Given the description of an element on the screen output the (x, y) to click on. 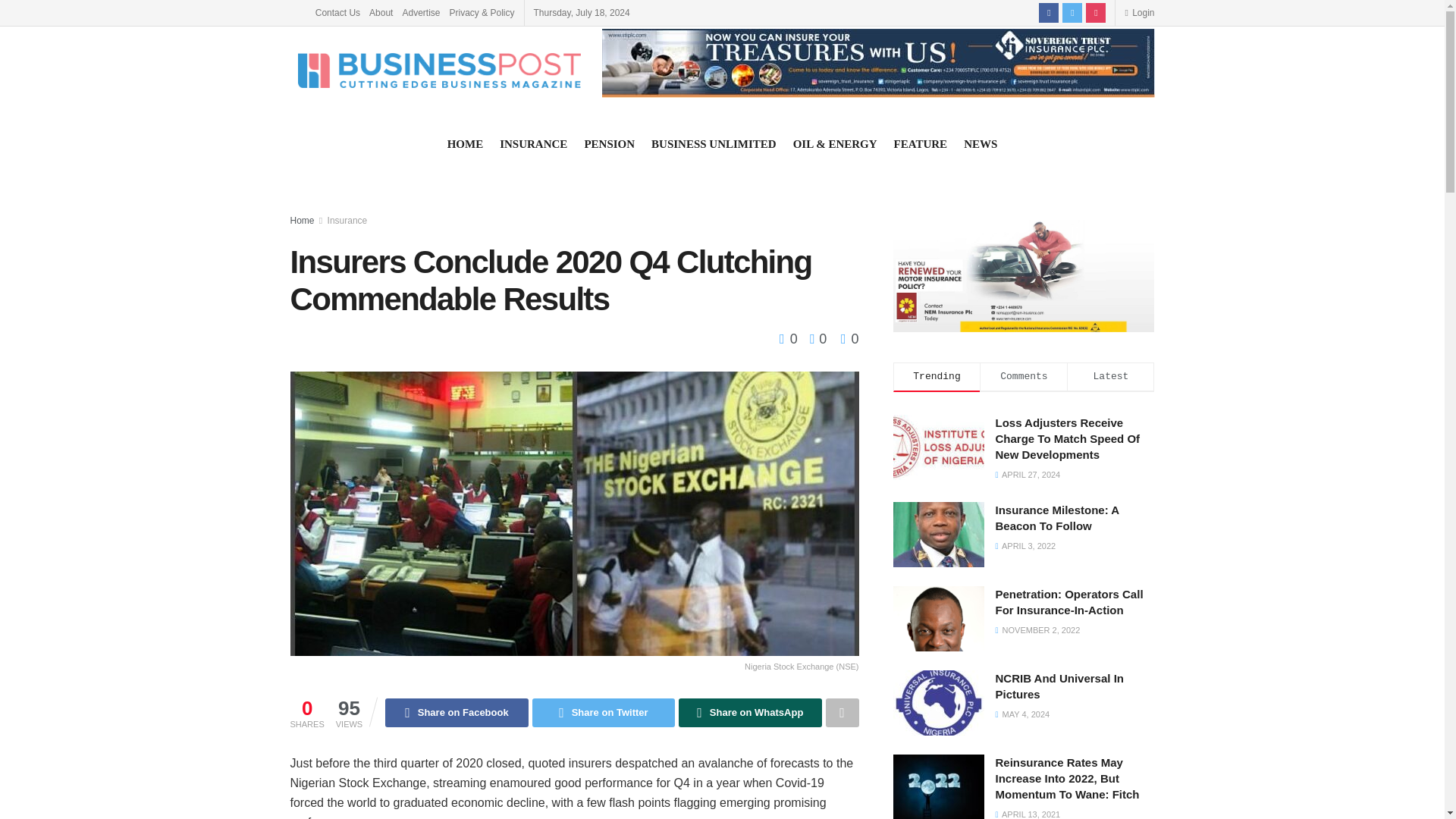
INSURANCE (533, 144)
About (381, 12)
0 (814, 338)
Advertise (420, 12)
0 (790, 338)
Insurance (347, 220)
Contact Us (337, 12)
BUSINESS UNLIMITED (713, 144)
Login (1139, 12)
PENSION (608, 144)
Home (301, 220)
FEATURE (920, 144)
NEWS (980, 144)
0 (850, 338)
HOME (464, 144)
